Given the description of an element on the screen output the (x, y) to click on. 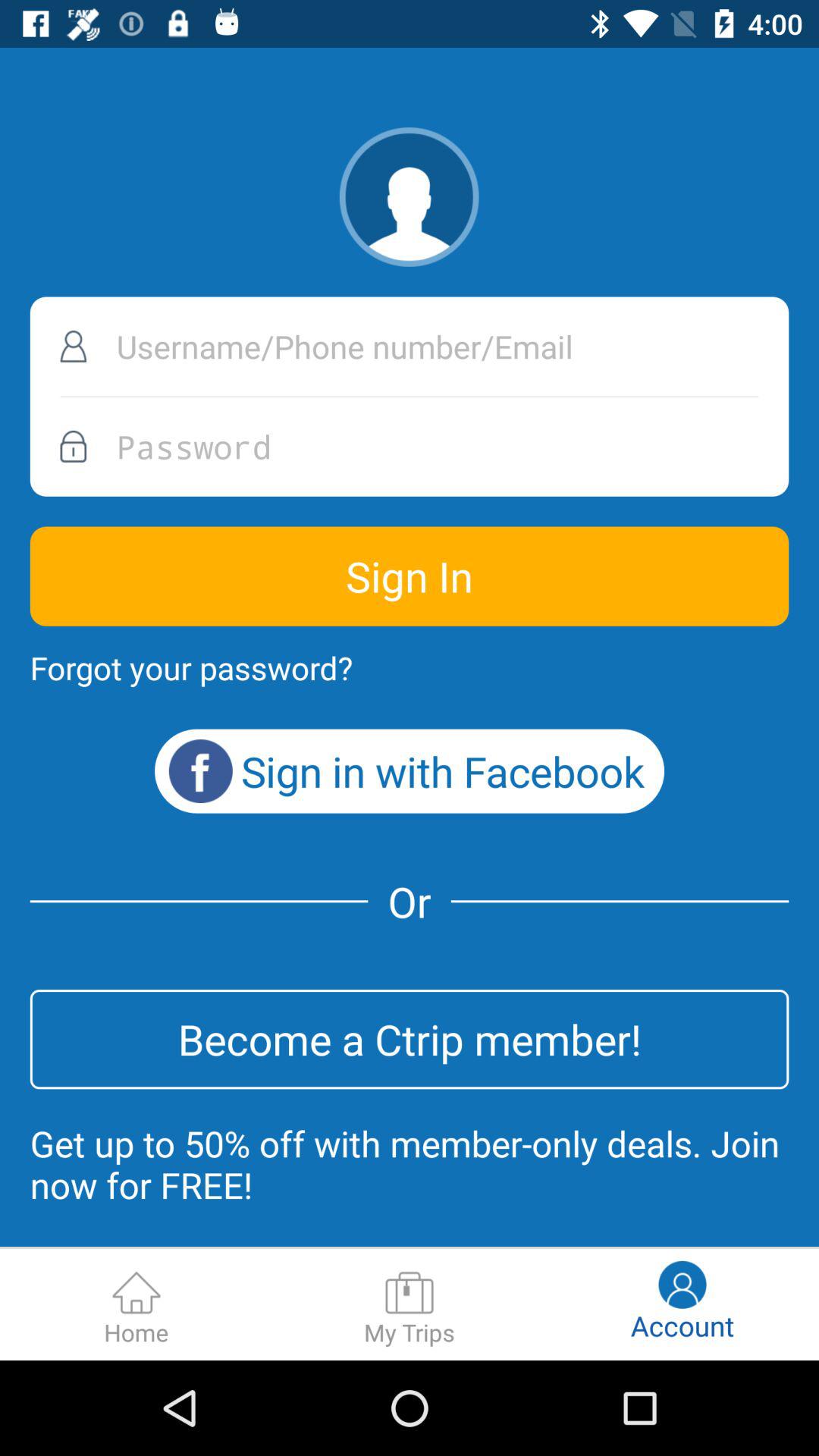
enter password (409, 446)
